Given the description of an element on the screen output the (x, y) to click on. 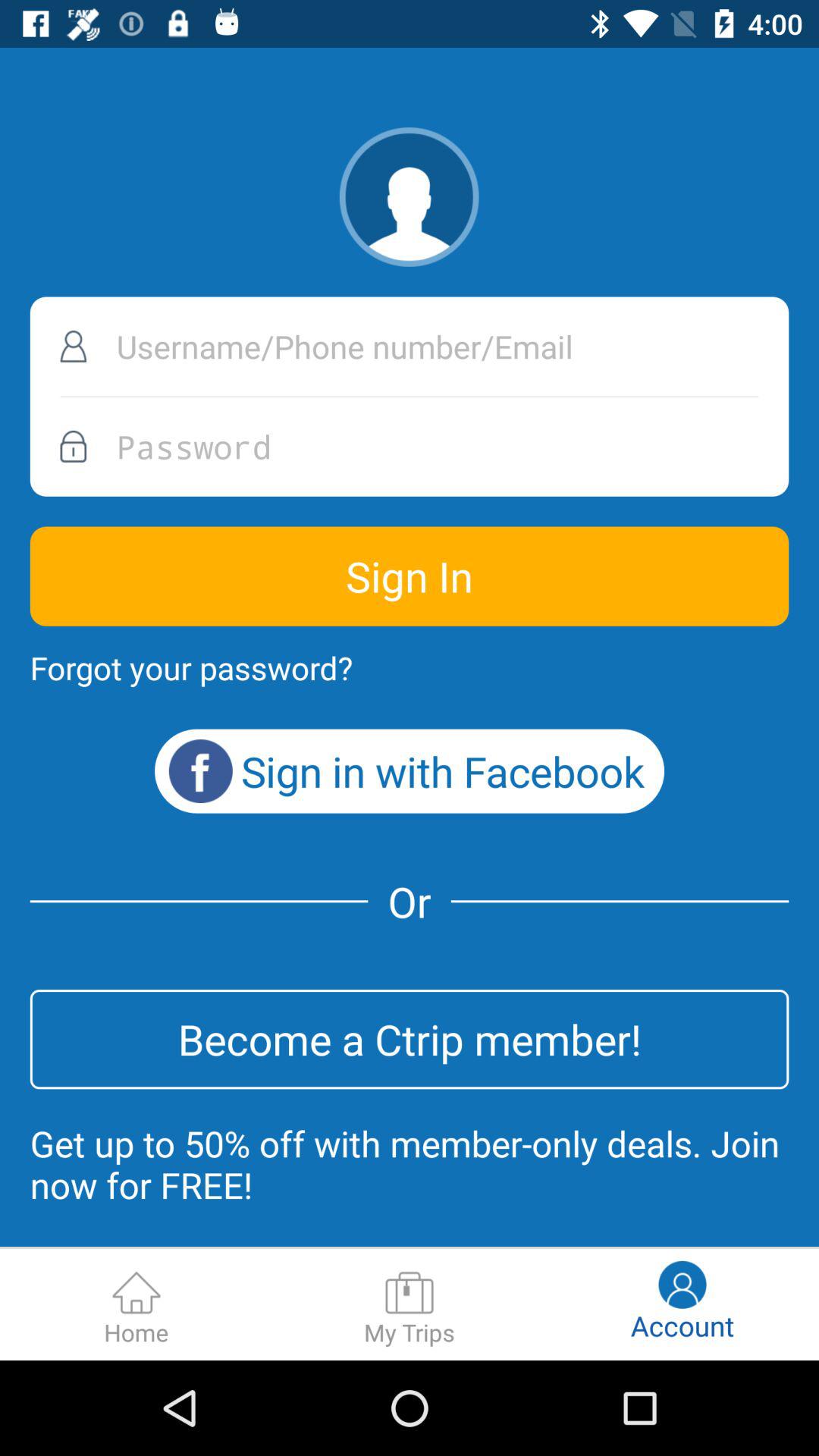
enter password (409, 446)
